Given the description of an element on the screen output the (x, y) to click on. 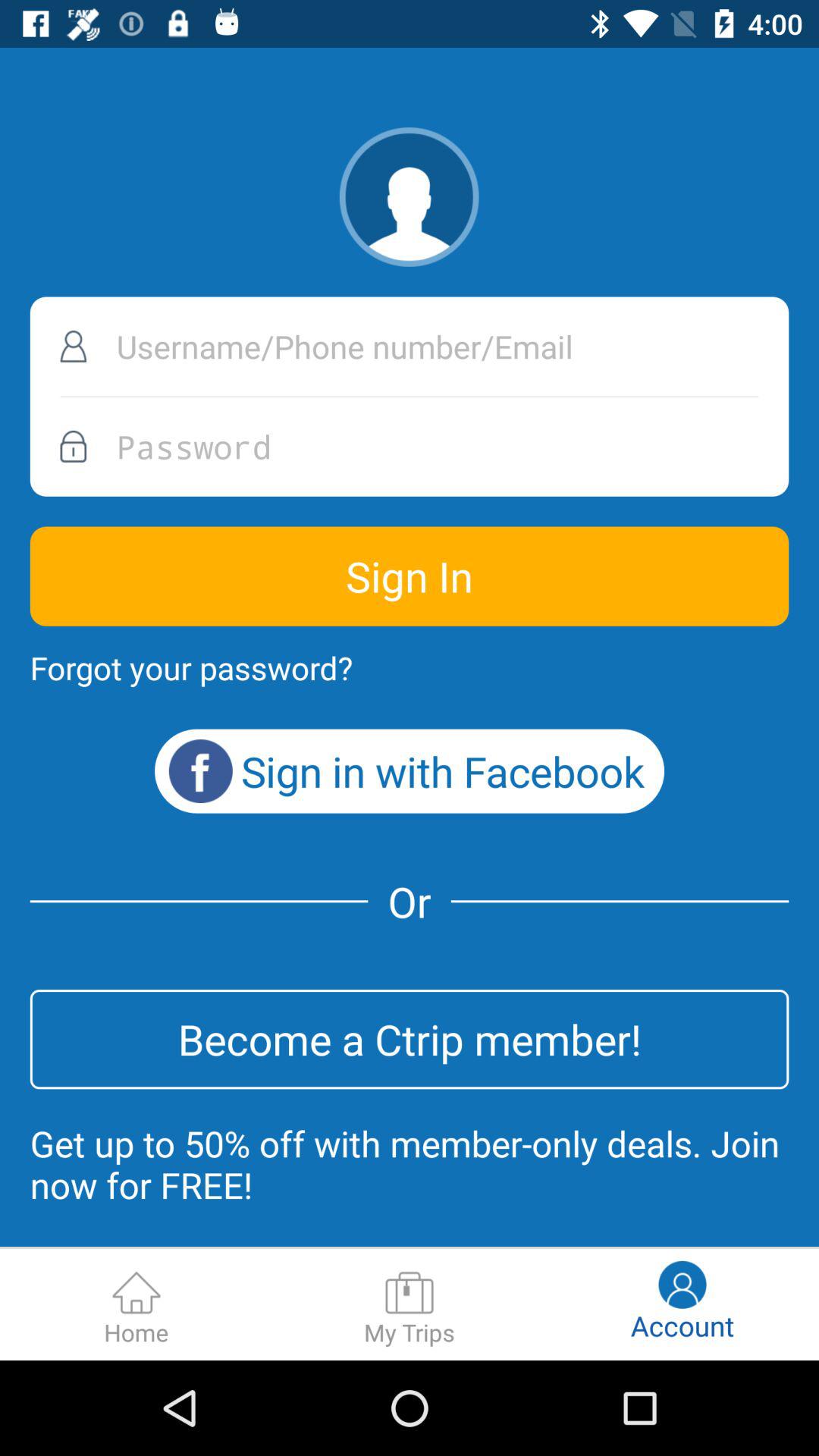
enter password (409, 446)
